Given the description of an element on the screen output the (x, y) to click on. 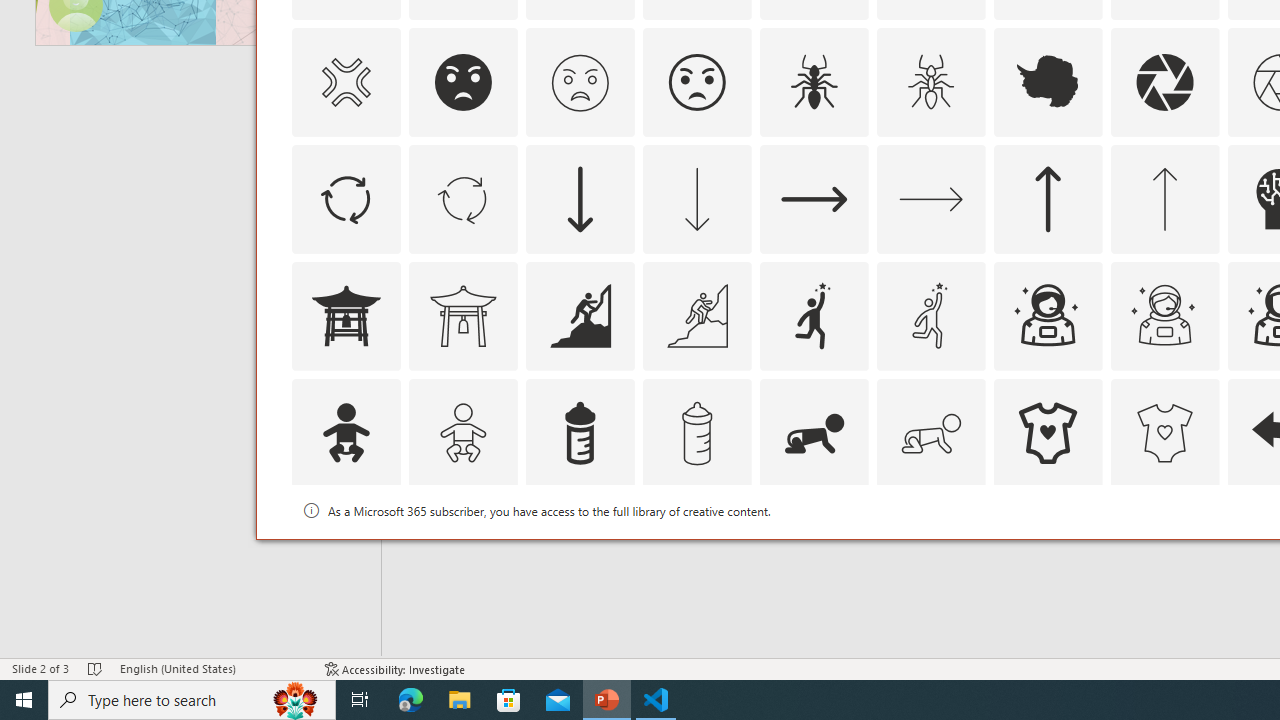
AutomationID: Icons_AngerSymbol_M (345, 82)
AutomationID: Icons_Badge3 (696, 550)
AutomationID: Icons_ArrowDown_M (696, 198)
AutomationID: Icons_AstronautFemale_M (1164, 316)
AutomationID: Icons_ArrowCircle (345, 198)
AutomationID: Icons_ArrowRight (813, 198)
AutomationID: Icons_AsianTemple1 (345, 316)
